Given the description of an element on the screen output the (x, y) to click on. 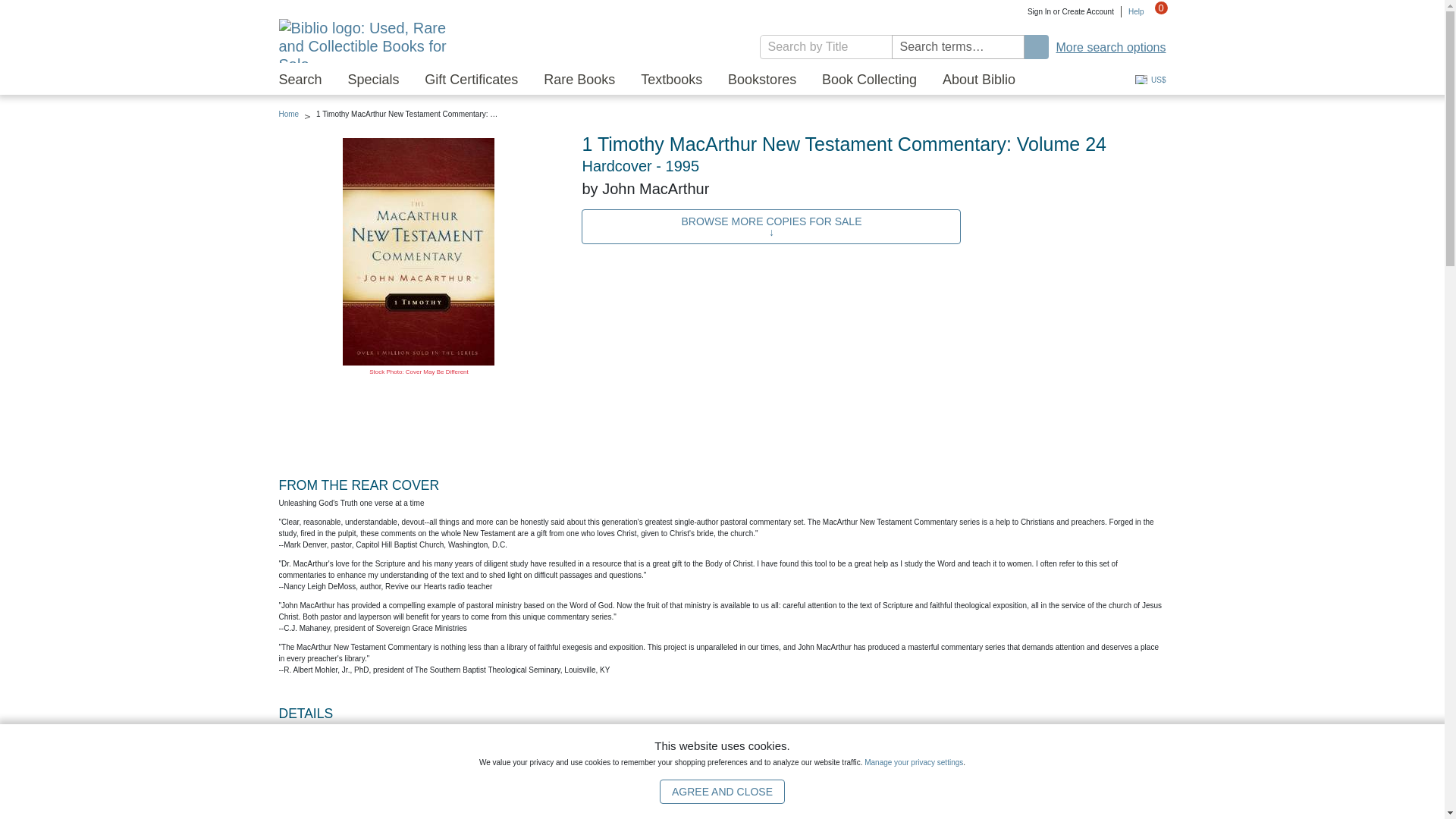
AGREE AND CLOSE (721, 791)
Rare Books (578, 80)
More search options (1111, 47)
Sign In or Create Account (1070, 11)
Bookstores (762, 80)
Search (300, 80)
Specials (372, 80)
Search (1036, 46)
